Given the description of an element on the screen output the (x, y) to click on. 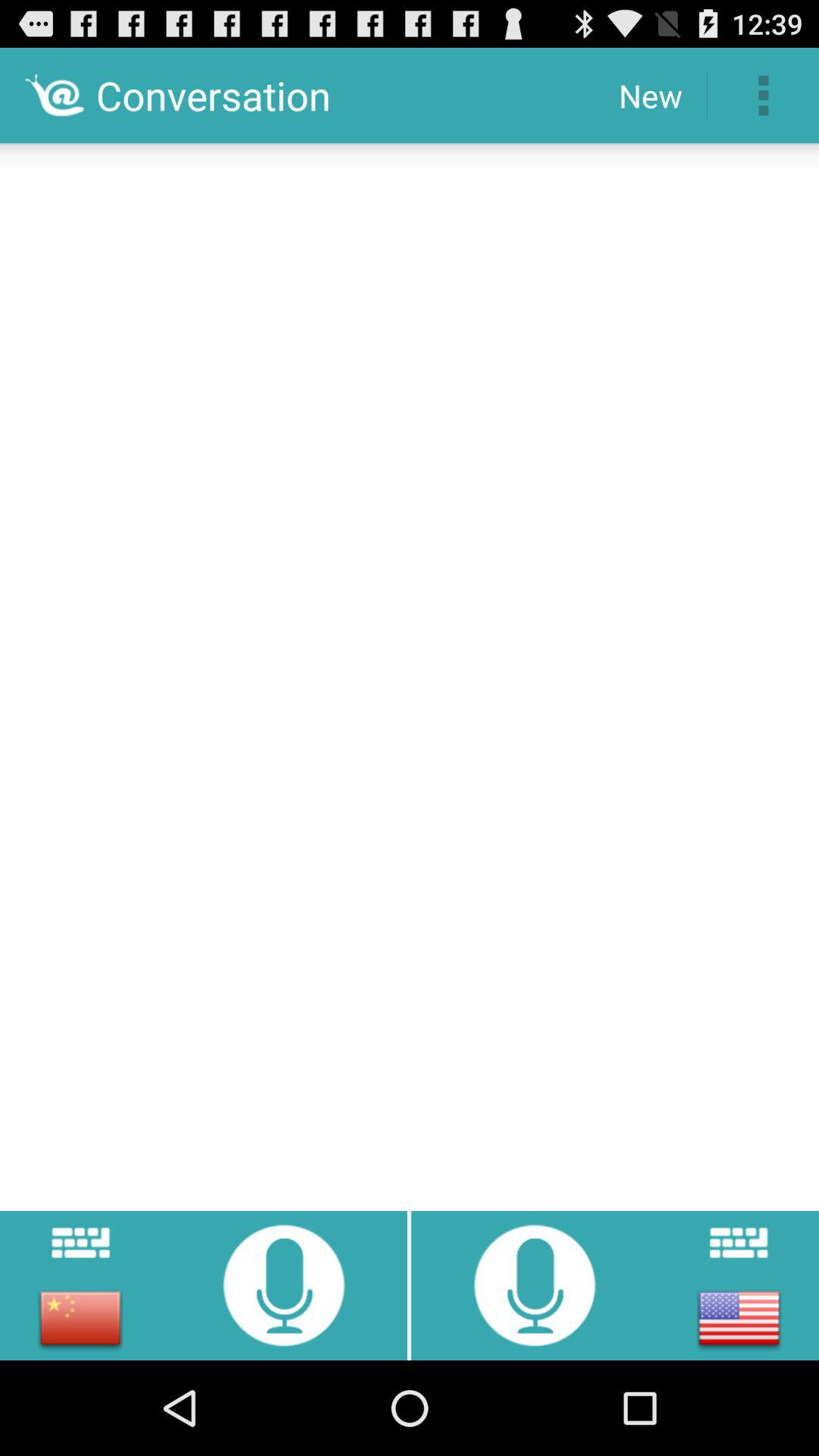
view country (738, 1317)
